Given the description of an element on the screen output the (x, y) to click on. 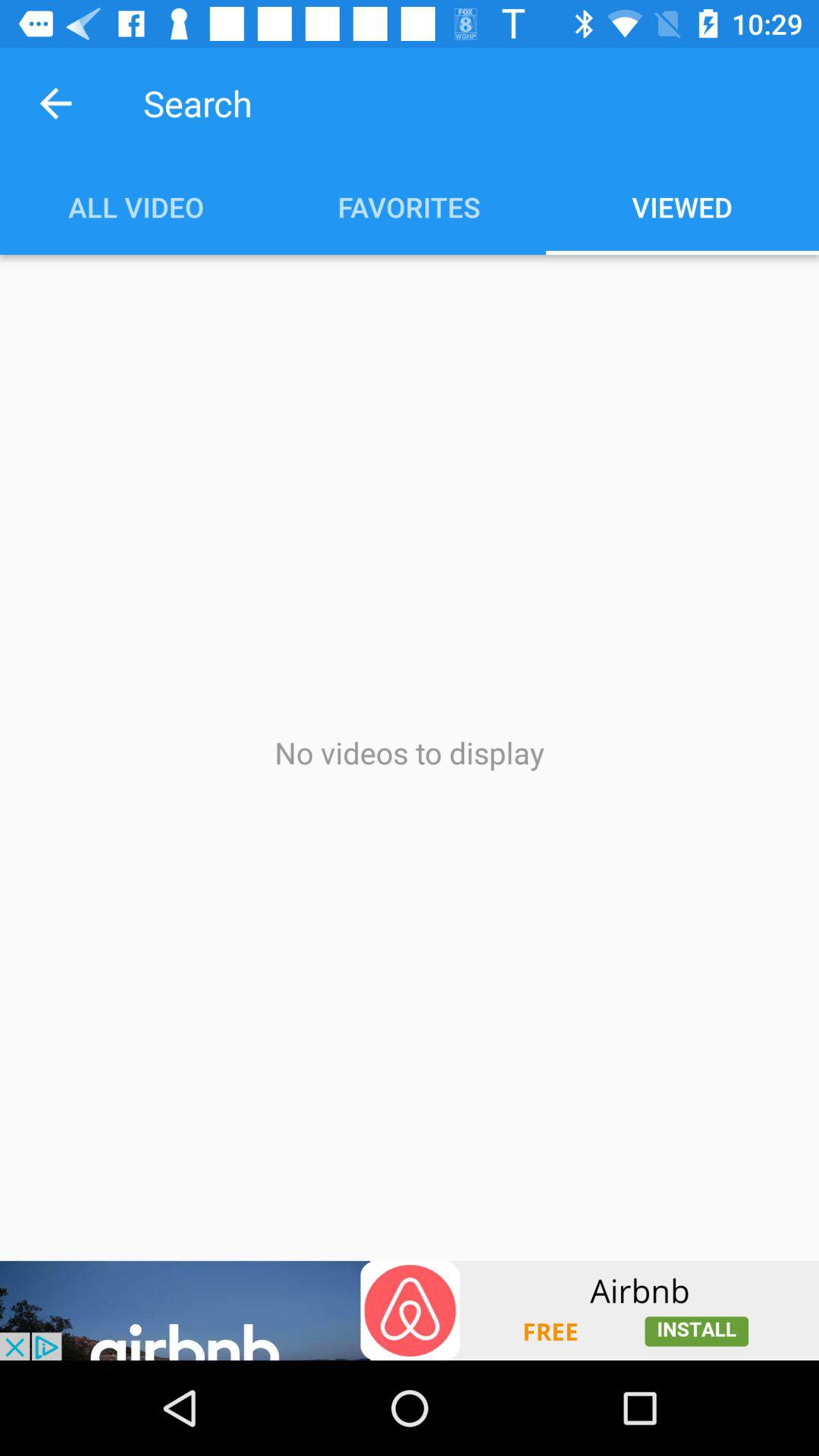
search (429, 103)
